Given the description of an element on the screen output the (x, y) to click on. 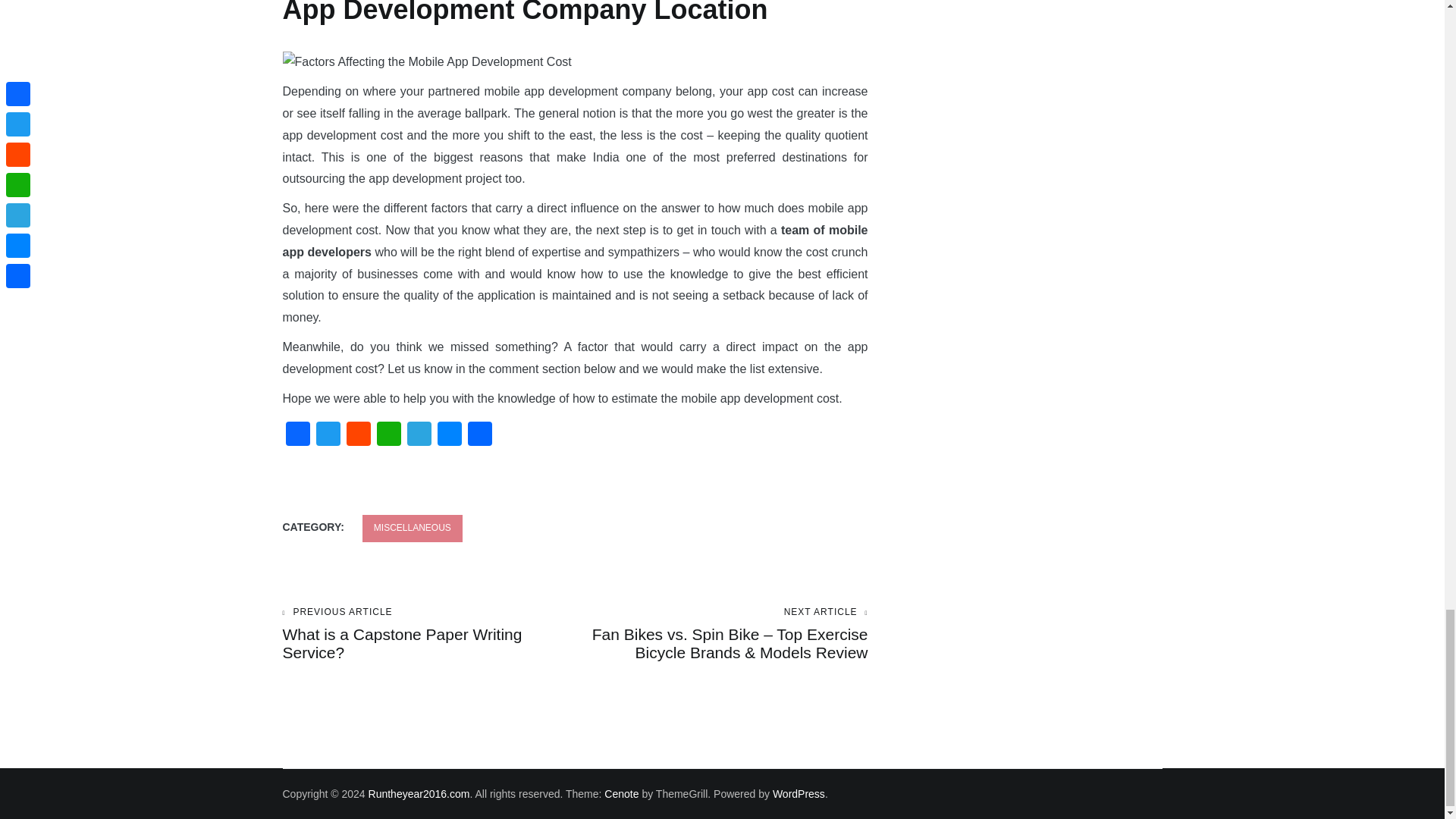
Facebook (428, 633)
Runtheyear2016.com (297, 435)
Cenote (419, 793)
Twitter (621, 793)
Share (327, 435)
MISCELLANEOUS (479, 435)
Reddit (412, 528)
Factors Affecting the Mobile App Development Cost (357, 435)
Runtheyear2016.com (426, 62)
WhatsApp (419, 793)
Messenger (387, 435)
Facebook (448, 435)
Reddit (297, 435)
Messenger (357, 435)
